Given the description of an element on the screen output the (x, y) to click on. 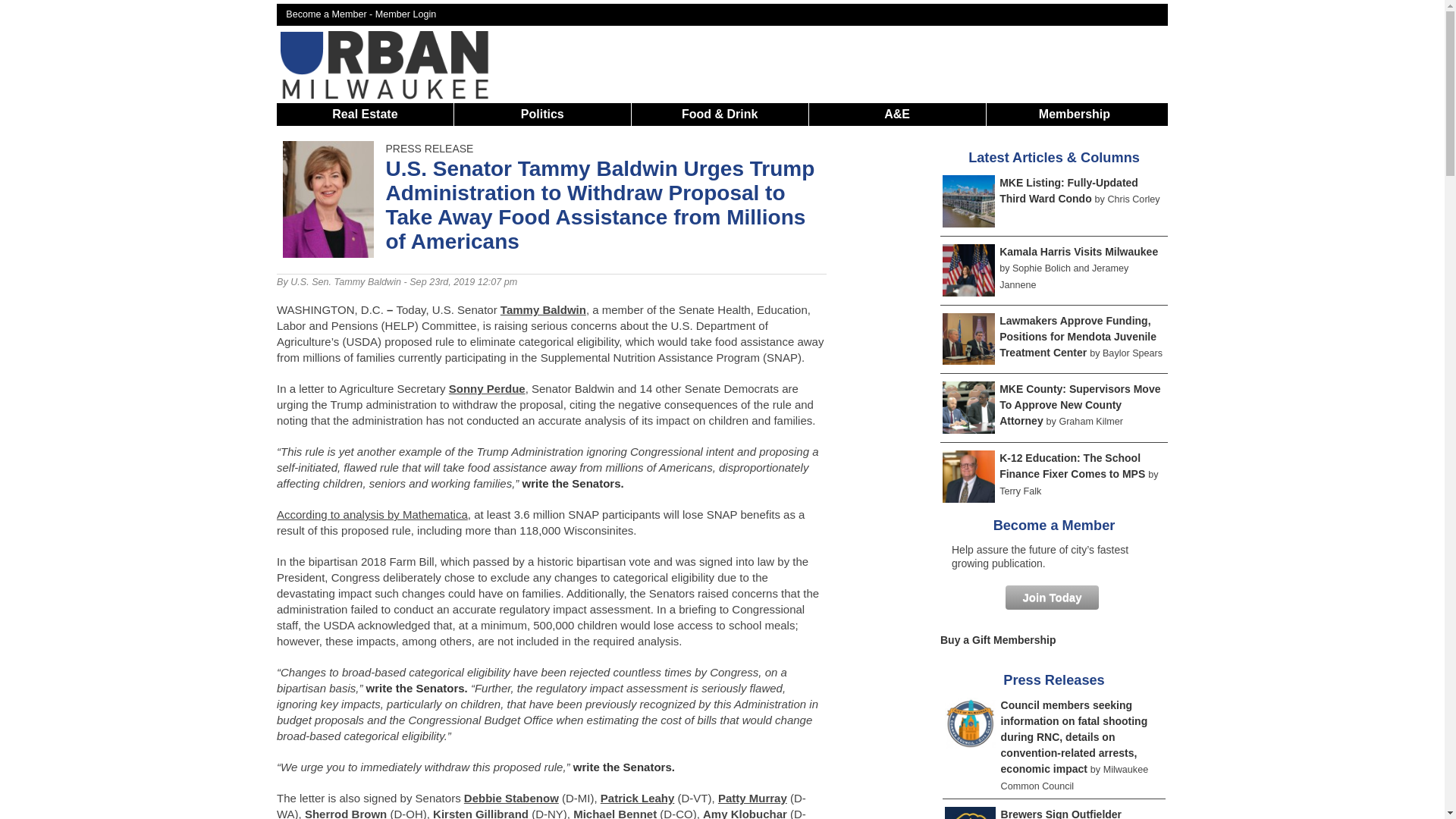
Tammy Baldwin (543, 309)
Patrick Leahy (637, 797)
Patty Murray (752, 797)
Real Estate (364, 113)
Member Login (405, 14)
According to analysis by Mathematica (371, 513)
Become a Member - (330, 14)
Membership (1074, 113)
Politics (542, 113)
Michael Bennet (614, 813)
Sonny Perdue (486, 388)
U.S. Sen. Tammy Baldwin (345, 281)
Kirsten Gillibrand (480, 813)
Debbie Stabenow (511, 797)
Sherrod Brown (345, 813)
